Given the description of an element on the screen output the (x, y) to click on. 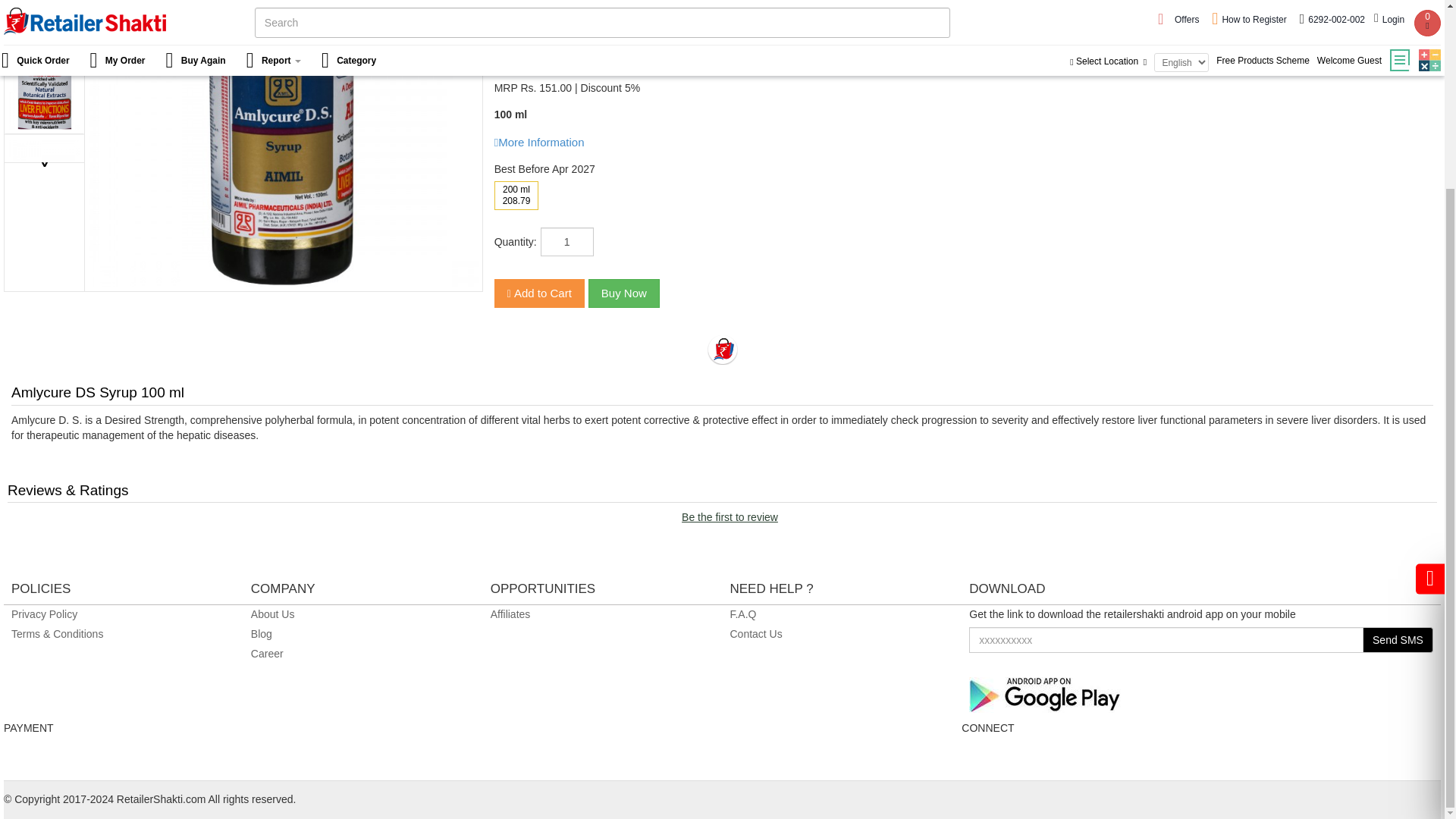
Amlycure DS Syrup 100 ml (283, 278)
1 (567, 241)
Loading.. (721, 349)
Amlycure DS Syrup 100 ml (283, 143)
